Given the description of an element on the screen output the (x, y) to click on. 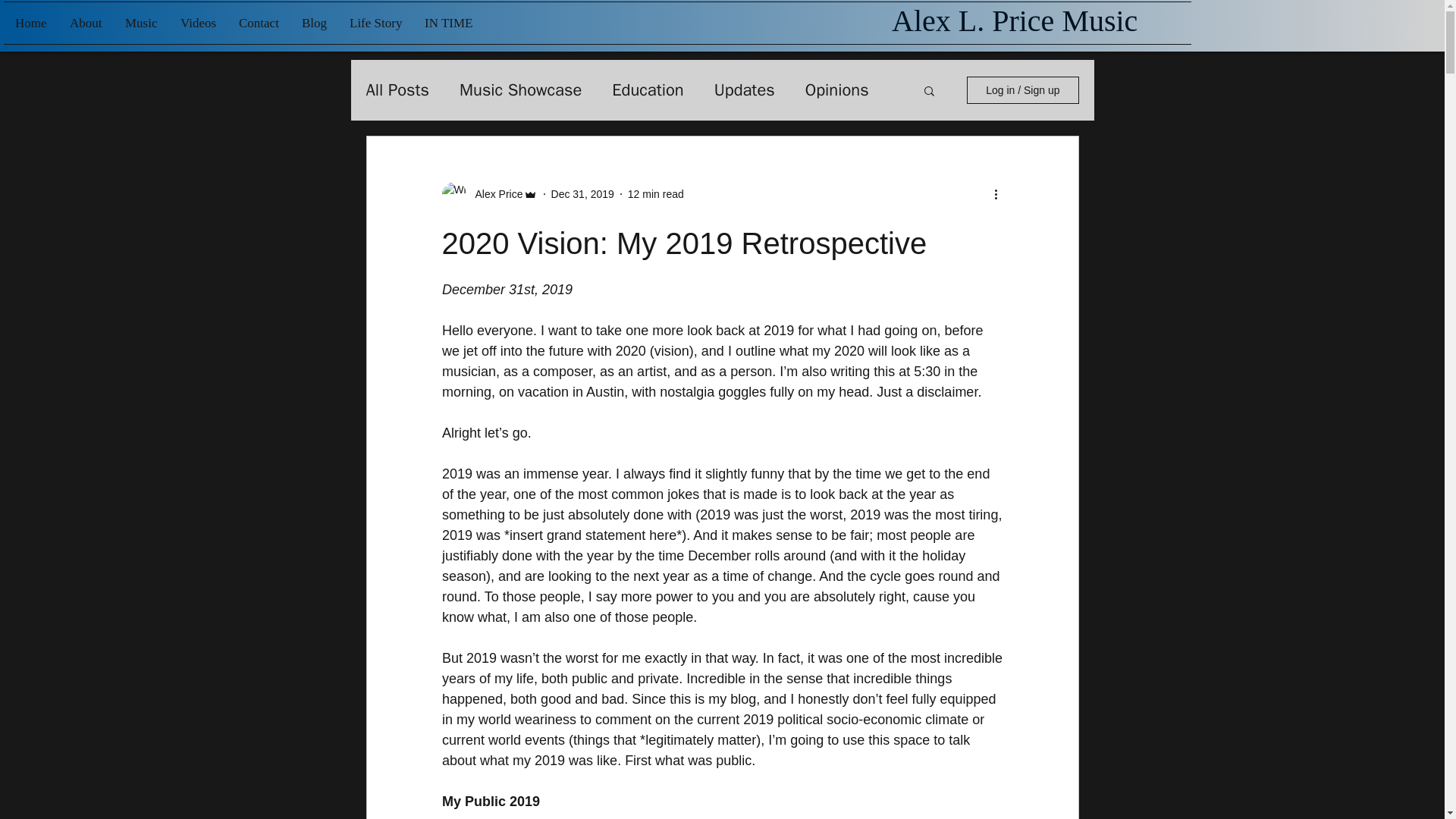
Contact (258, 23)
Music Showcase (520, 89)
Education (646, 89)
All Posts (397, 89)
About (85, 23)
Videos (197, 23)
Life Story (375, 23)
Home (31, 23)
Updates (744, 89)
Dec 31, 2019 (582, 193)
